Given the description of an element on the screen output the (x, y) to click on. 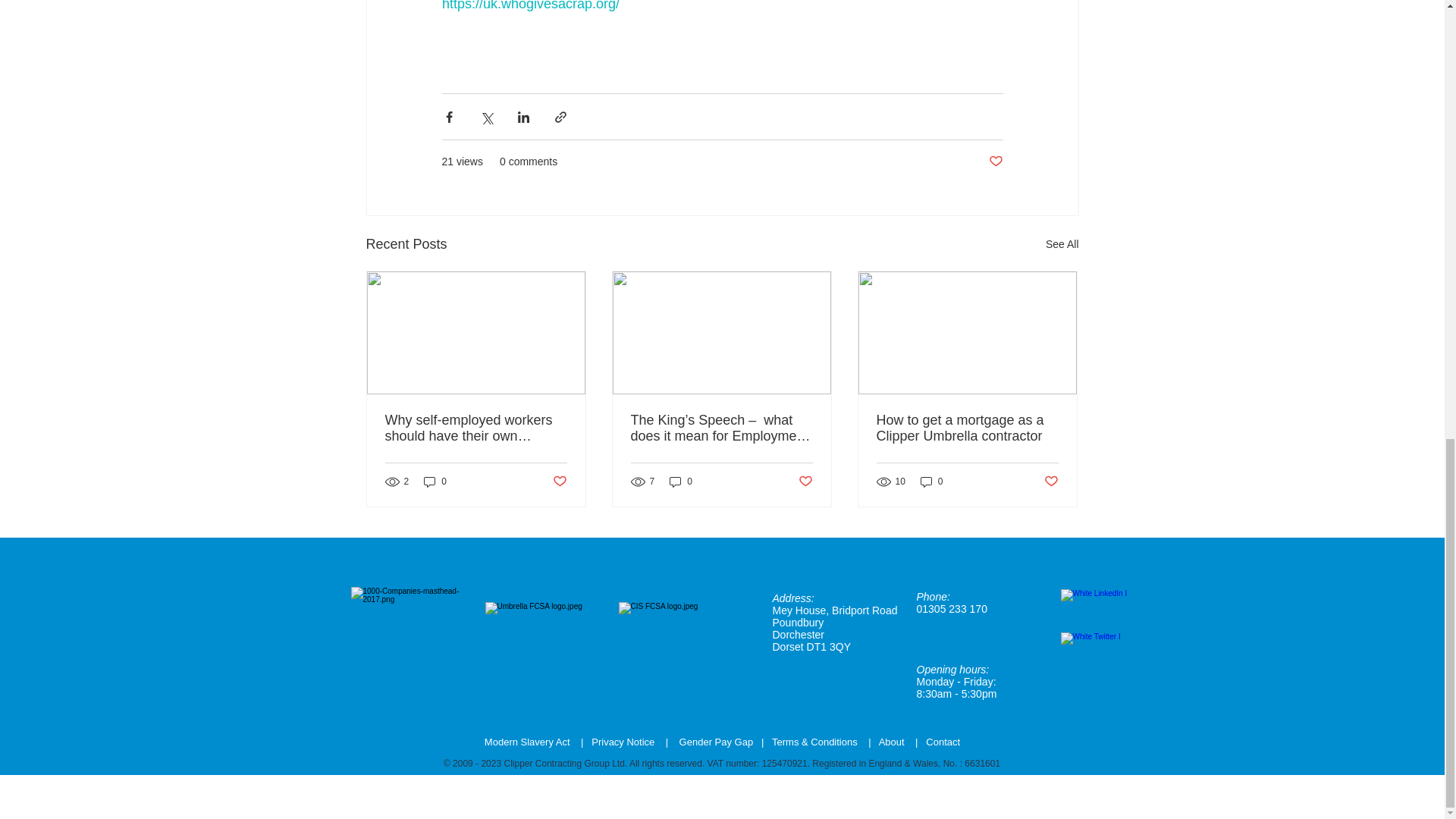
0 (435, 481)
See All (1061, 244)
Post not marked as liked (558, 480)
Why self-employed workers should have their own insurance (476, 428)
Post not marked as liked (995, 161)
